Given the description of an element on the screen output the (x, y) to click on. 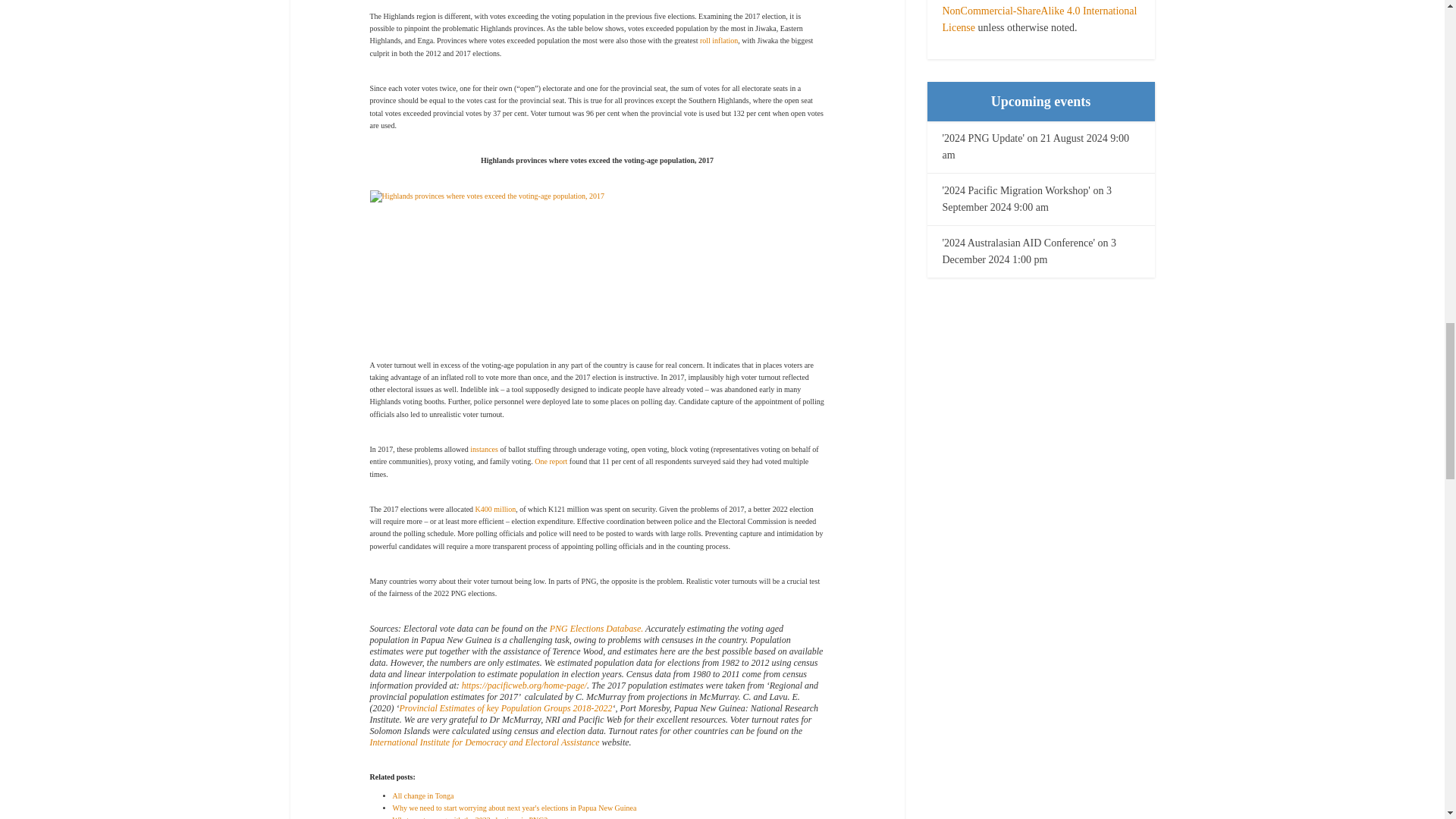
PNG Elections Database. (596, 628)
instances (483, 449)
Provincial Estimates of key Population Groups 2018-2022 (504, 707)
roll inflation (719, 40)
K400 million (496, 509)
One report (550, 461)
